Given the description of an element on the screen output the (x, y) to click on. 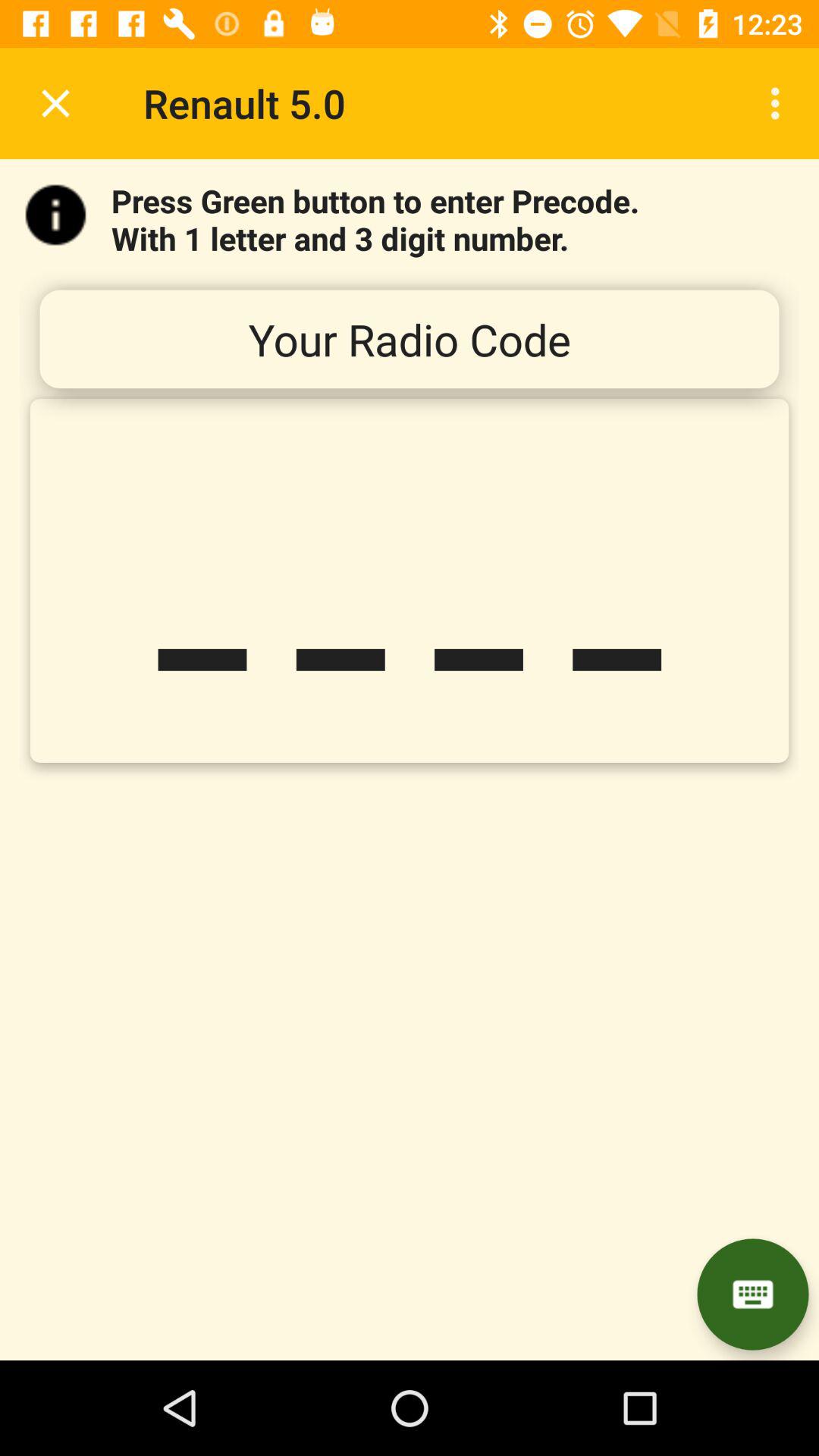
open keyboard (752, 1294)
